Given the description of an element on the screen output the (x, y) to click on. 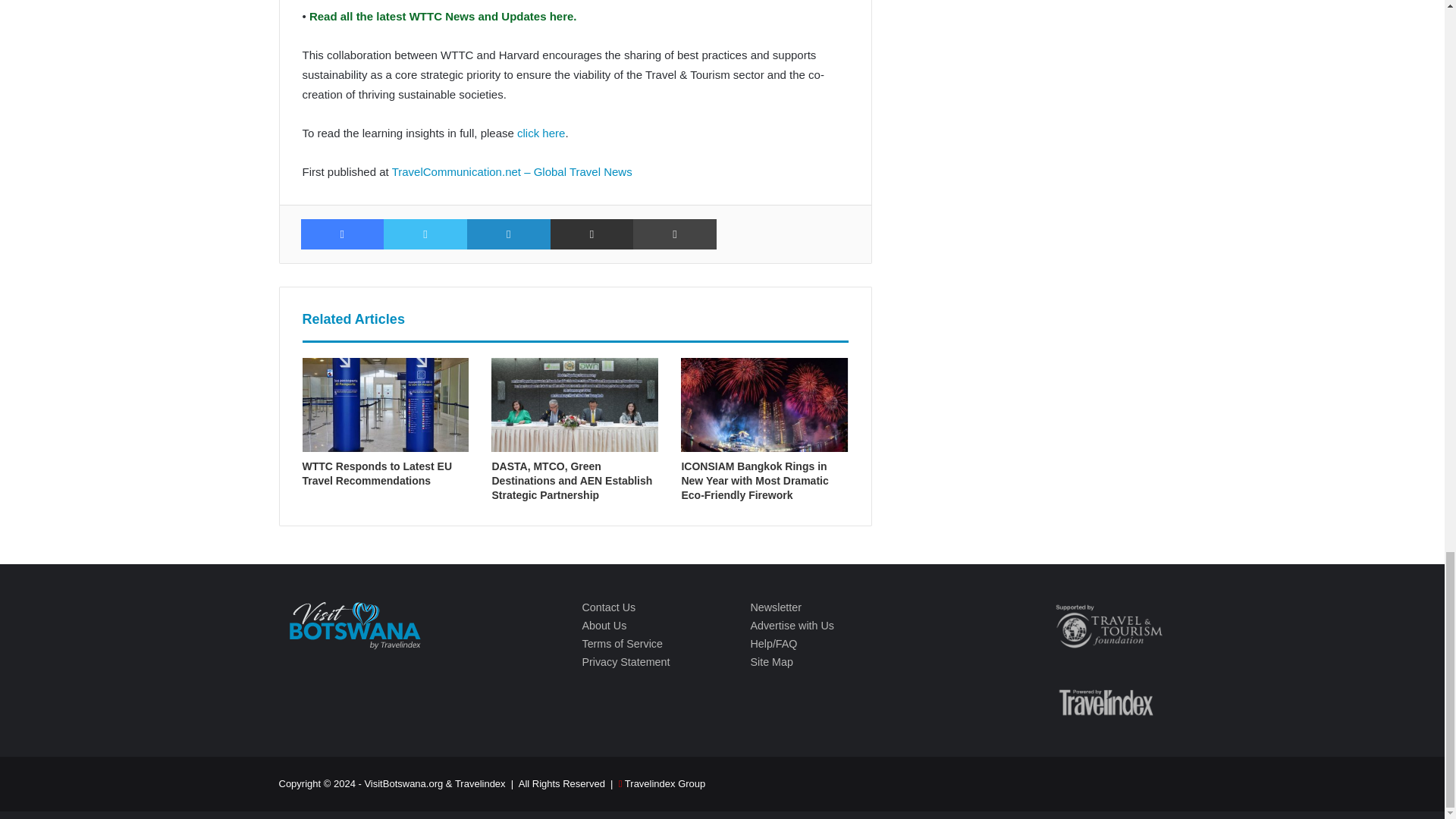
click here (540, 132)
Contact Us (607, 607)
Print (674, 234)
Site Map (770, 662)
LinkedIn (508, 234)
About Us (603, 625)
Terms of Service (621, 644)
WTTC Responds to Latest EU Travel Recommendations (376, 473)
Read all the latest WTTC News and Updates here. (440, 15)
Facebook (341, 234)
Print (674, 234)
Newsletter (775, 607)
Privacy Statement (624, 662)
Share via Email (591, 234)
